Given the description of an element on the screen output the (x, y) to click on. 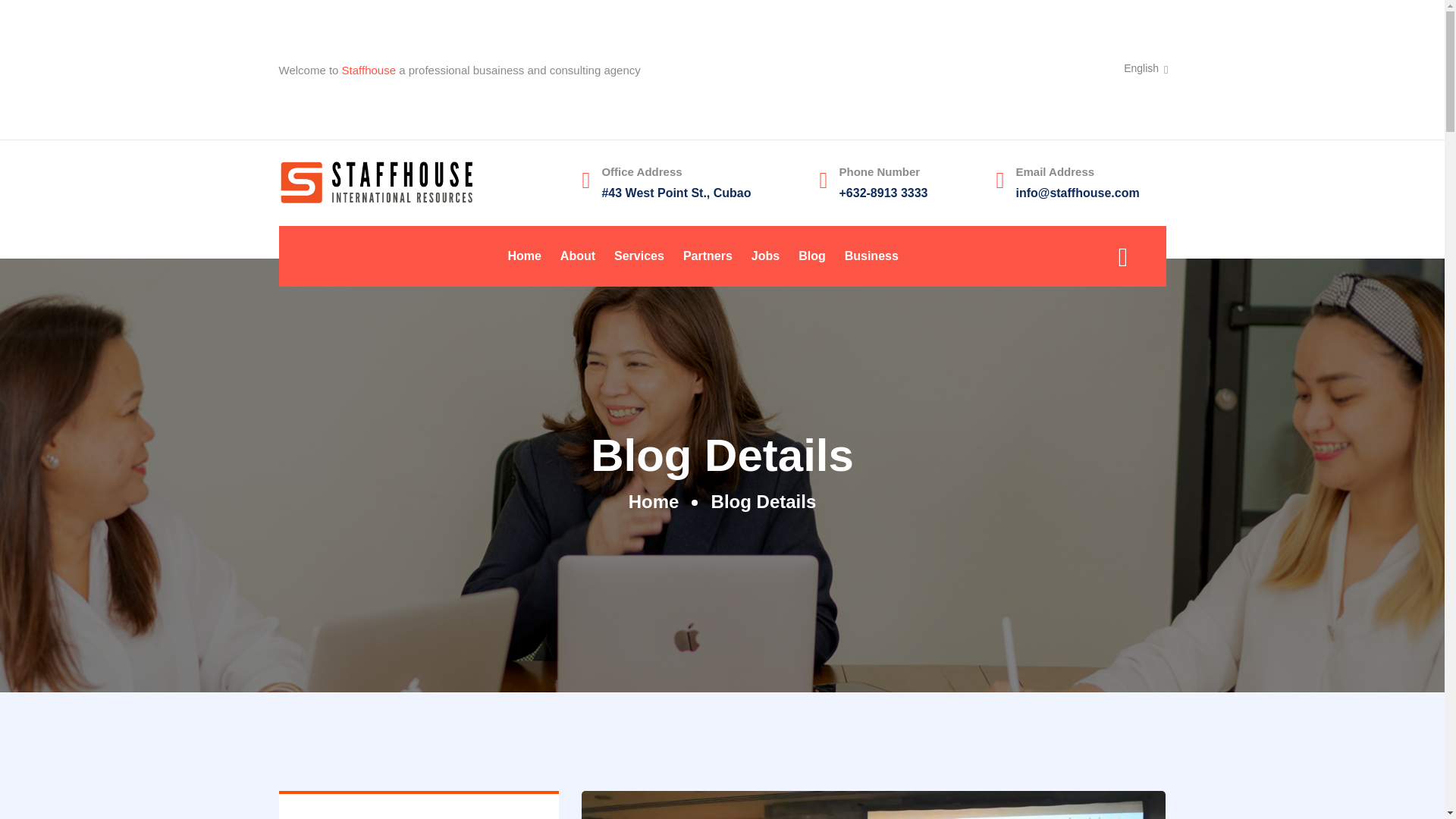
Home (653, 501)
Staffhouse (369, 69)
English (1145, 68)
